Given the description of an element on the screen output the (x, y) to click on. 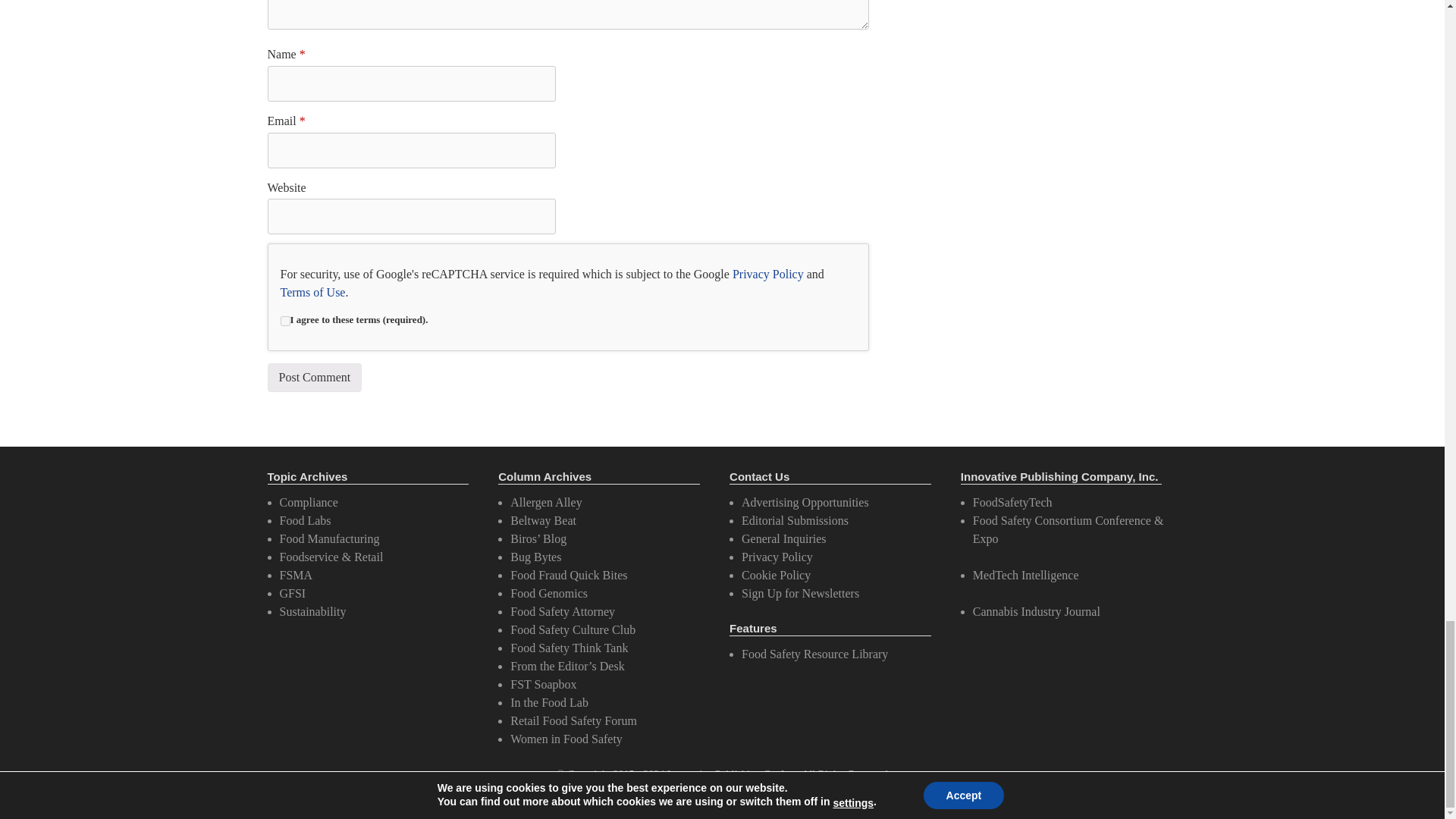
Post Comment (313, 377)
on (285, 320)
